Given the description of an element on the screen output the (x, y) to click on. 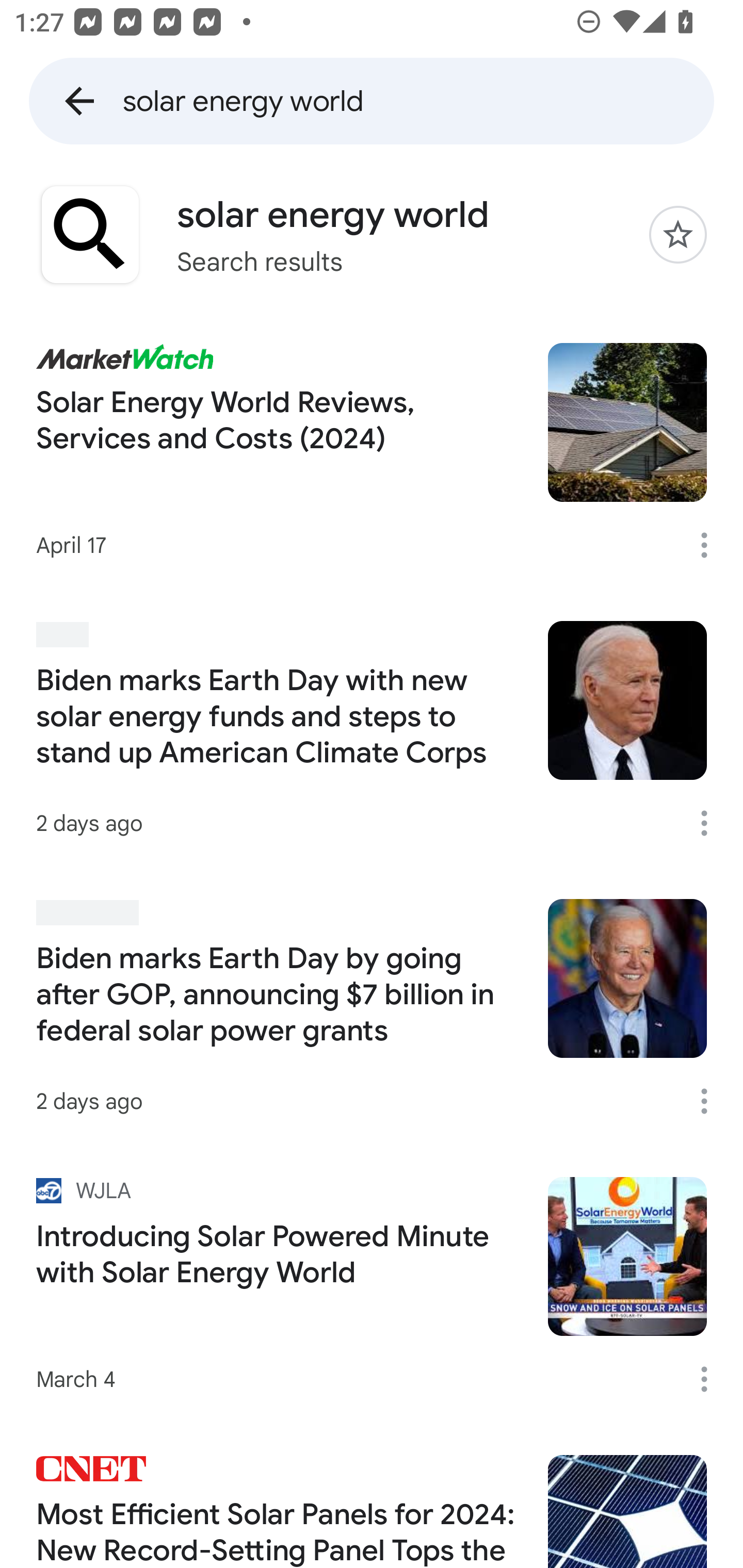
solar energy world Navigate up solar energy world (371, 101)
Navigate up (79, 101)
solar energy world Search results Follow (371, 234)
Follow (677, 234)
More options (711, 544)
More options (711, 823)
More options (711, 1101)
More options (711, 1378)
